Given the description of an element on the screen output the (x, y) to click on. 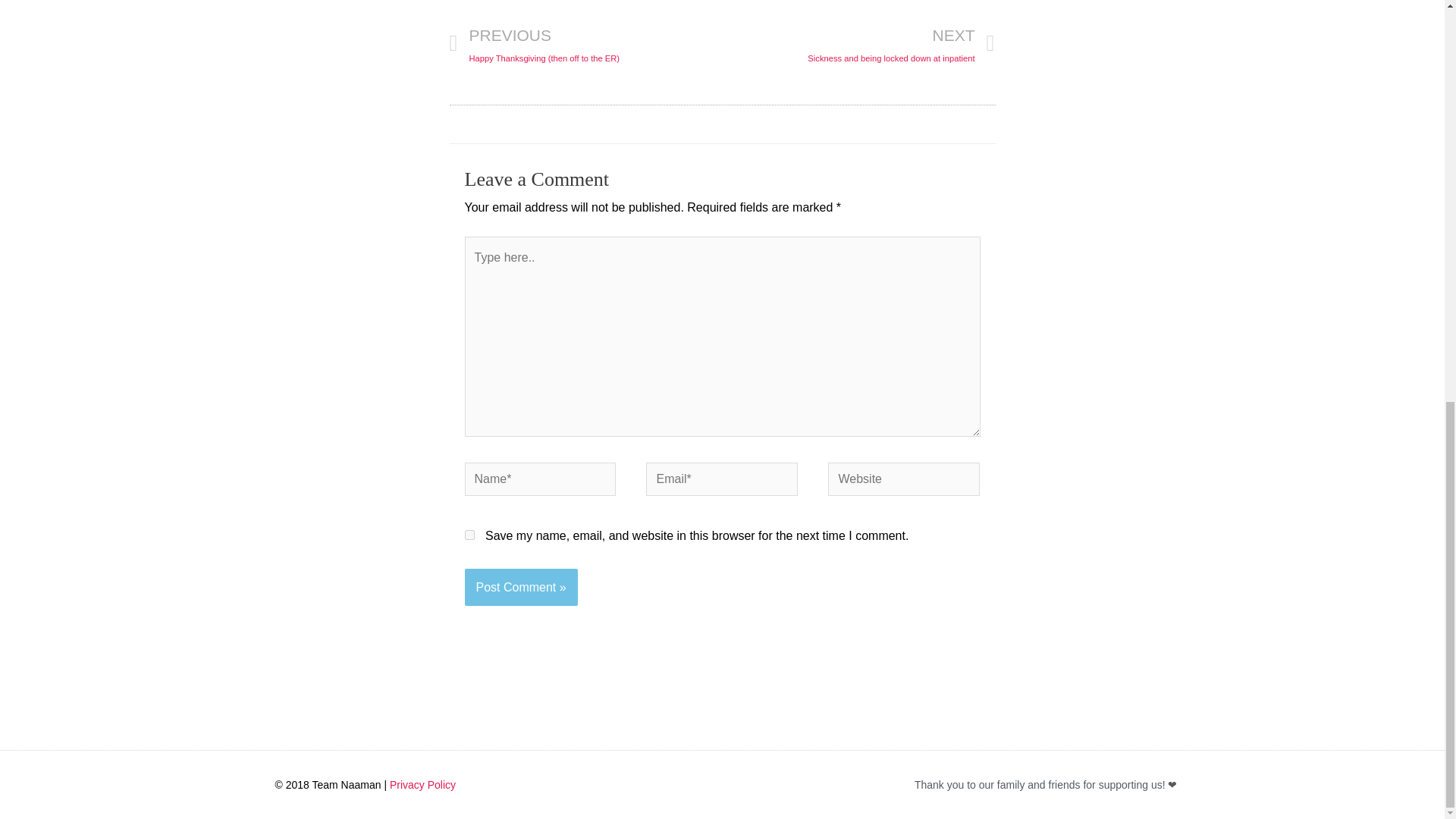
Privacy Policy (422, 784)
yes (858, 43)
